Given the description of an element on the screen output the (x, y) to click on. 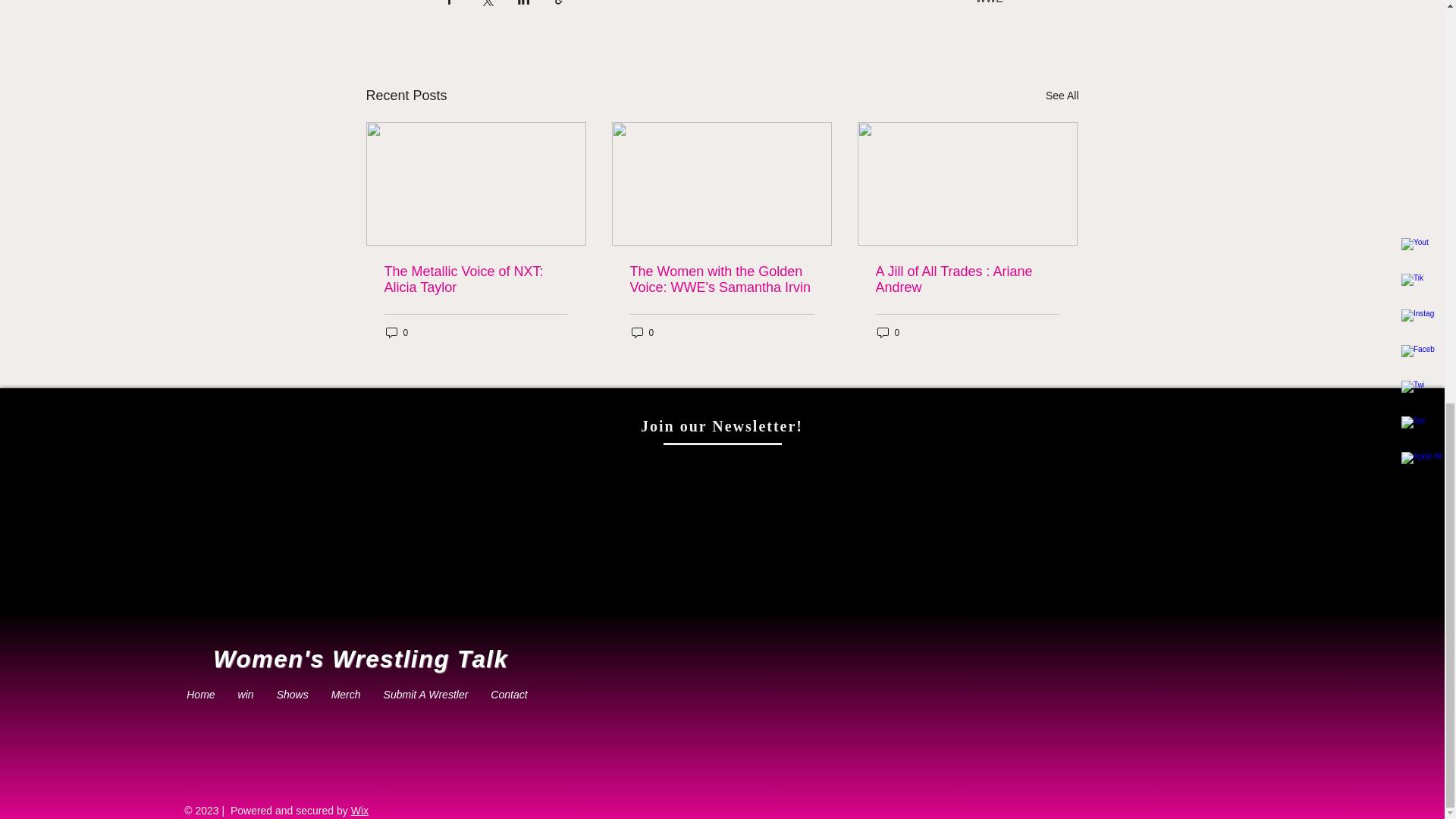
See All (1061, 96)
WWE (989, 2)
0 (396, 332)
The Metallic Voice of NXT: Alicia Taylor (475, 279)
